Given the description of an element on the screen output the (x, y) to click on. 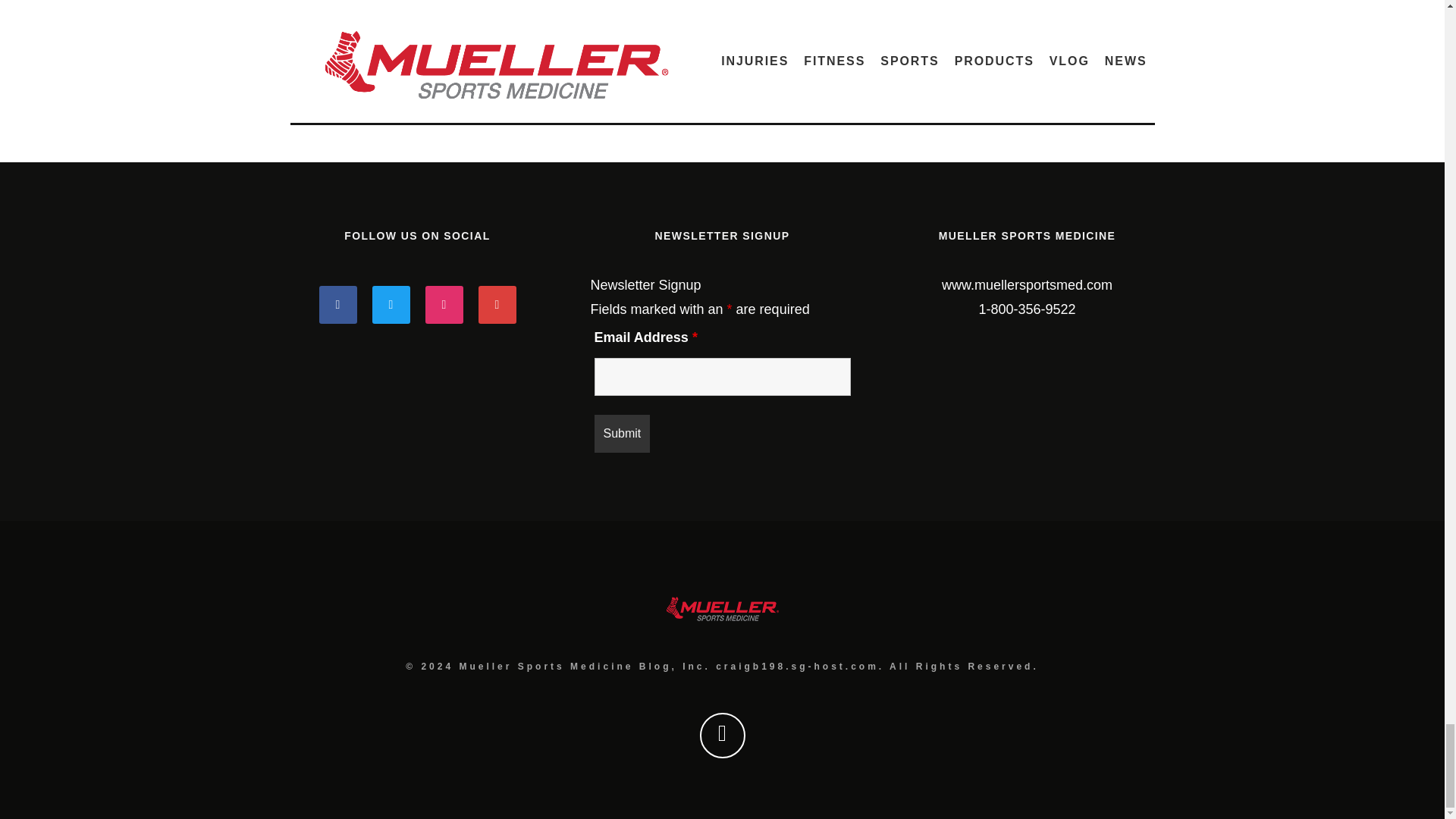
Submit (327, 100)
yes (297, 40)
Submit (622, 433)
